Given the description of an element on the screen output the (x, y) to click on. 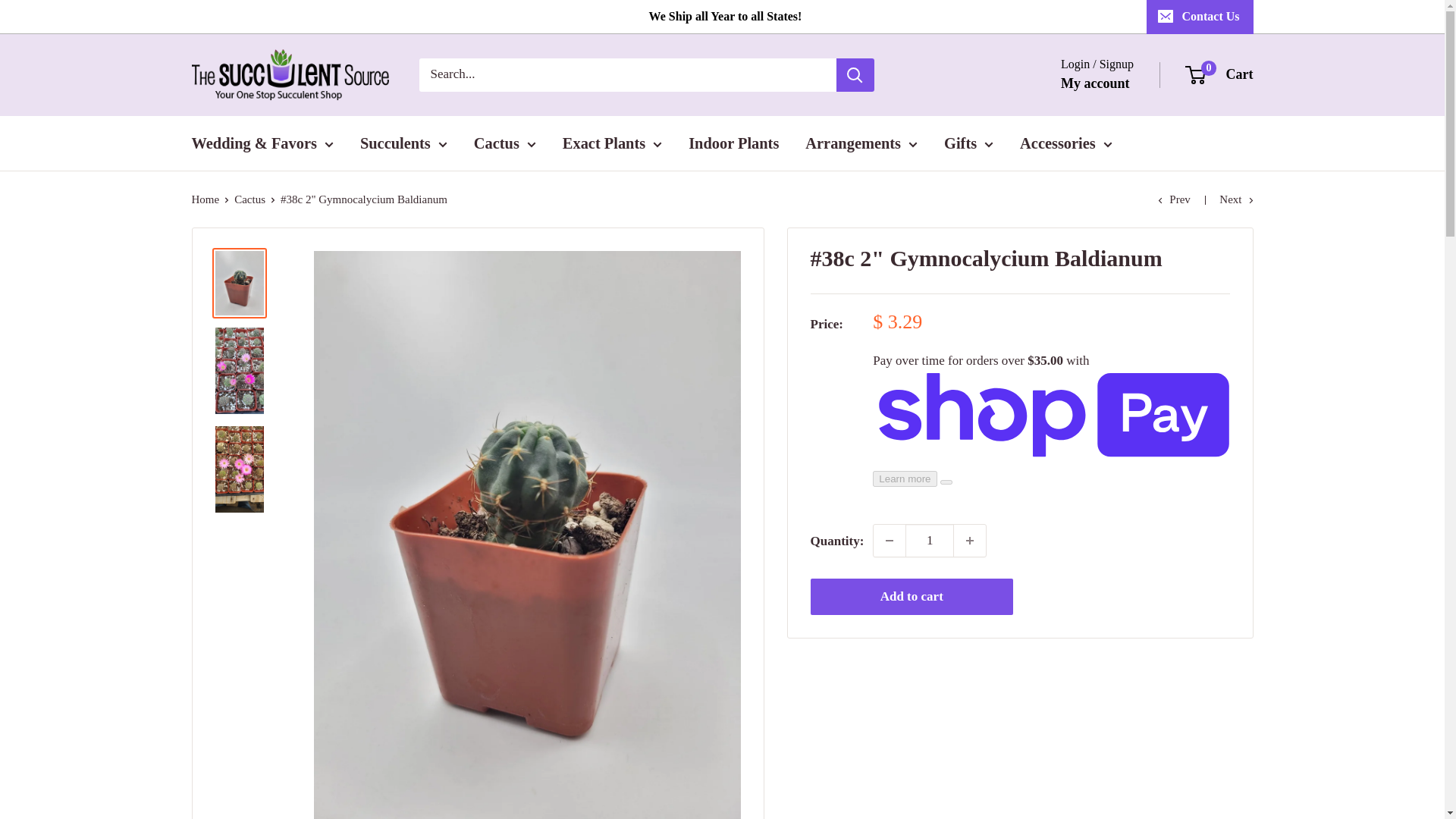
1 (929, 540)
Contact Us (1200, 16)
Decrease quantity by 1 (889, 540)
Increase quantity by 1 (969, 540)
